Given the description of an element on the screen output the (x, y) to click on. 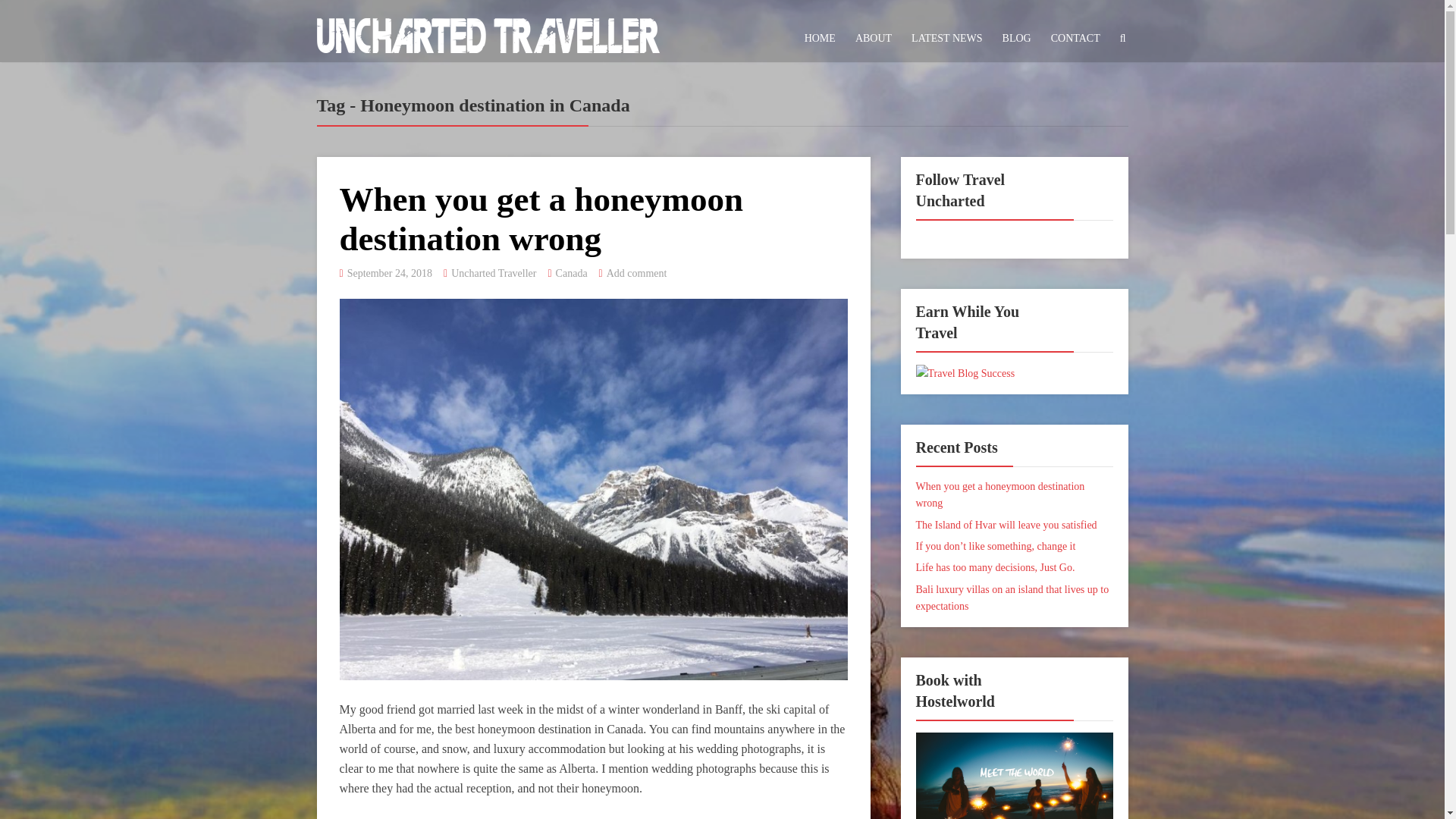
Add comment (636, 273)
Life has too many decisions, Just Go. (995, 567)
Book with Hostelworld (1014, 786)
The Island of Hvar will leave you satisfied (1006, 524)
When you get a honeymoon destination wrong (541, 218)
When you get a honeymoon destination wrong (541, 218)
Travel Blog Success (964, 372)
When you get a honeymoon destination wrong (999, 494)
Uncharted Traveller (493, 273)
Canada (572, 273)
LATEST NEWS (946, 38)
best honeymoon destination in Canada (548, 728)
Uncharted Traveller (488, 32)
